Given the description of an element on the screen output the (x, y) to click on. 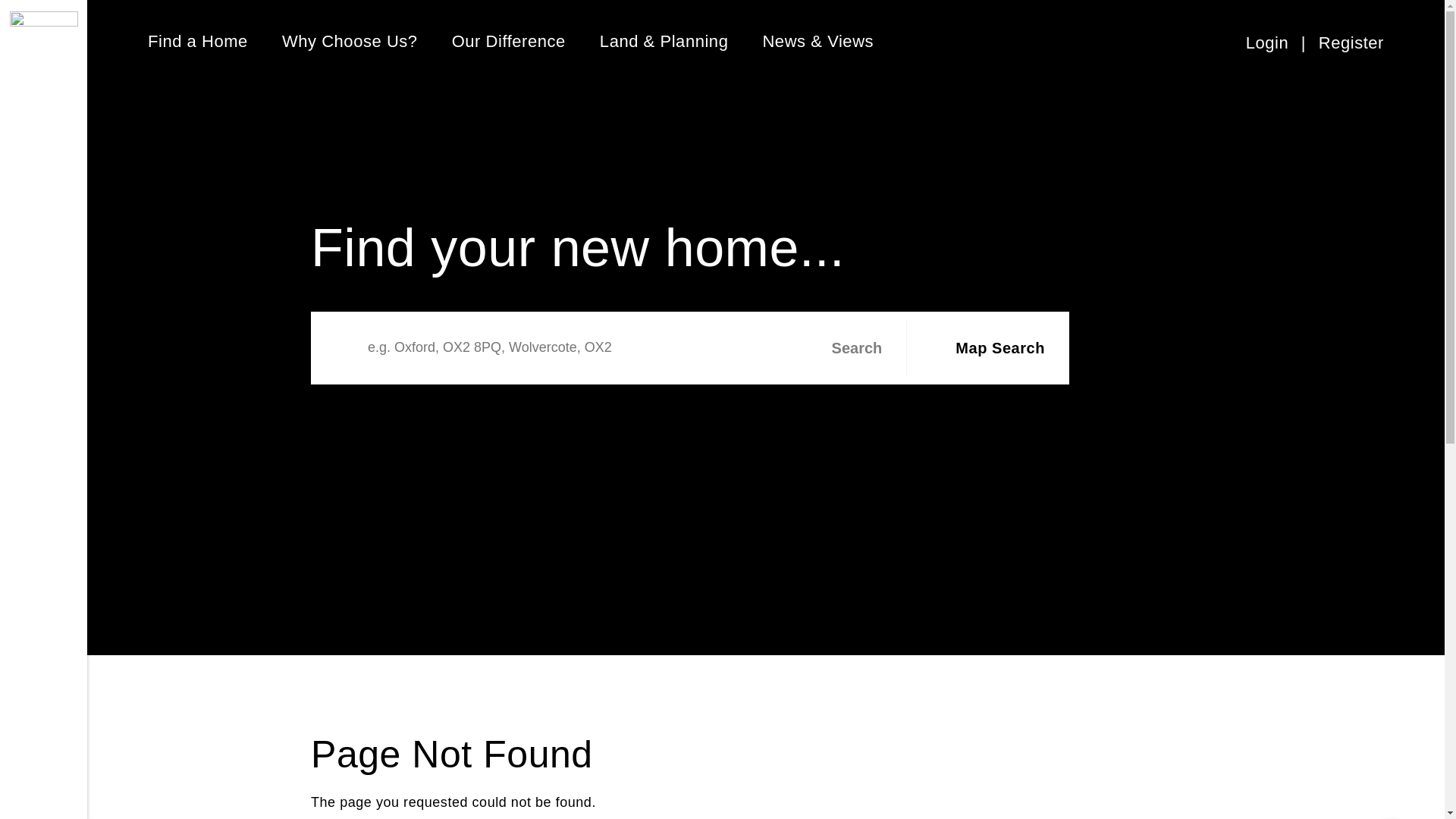
Search (844, 347)
Find a Home (197, 40)
Our Difference (508, 40)
Why Choose Us? (349, 40)
Map Search (984, 347)
